Given the description of an element on the screen output the (x, y) to click on. 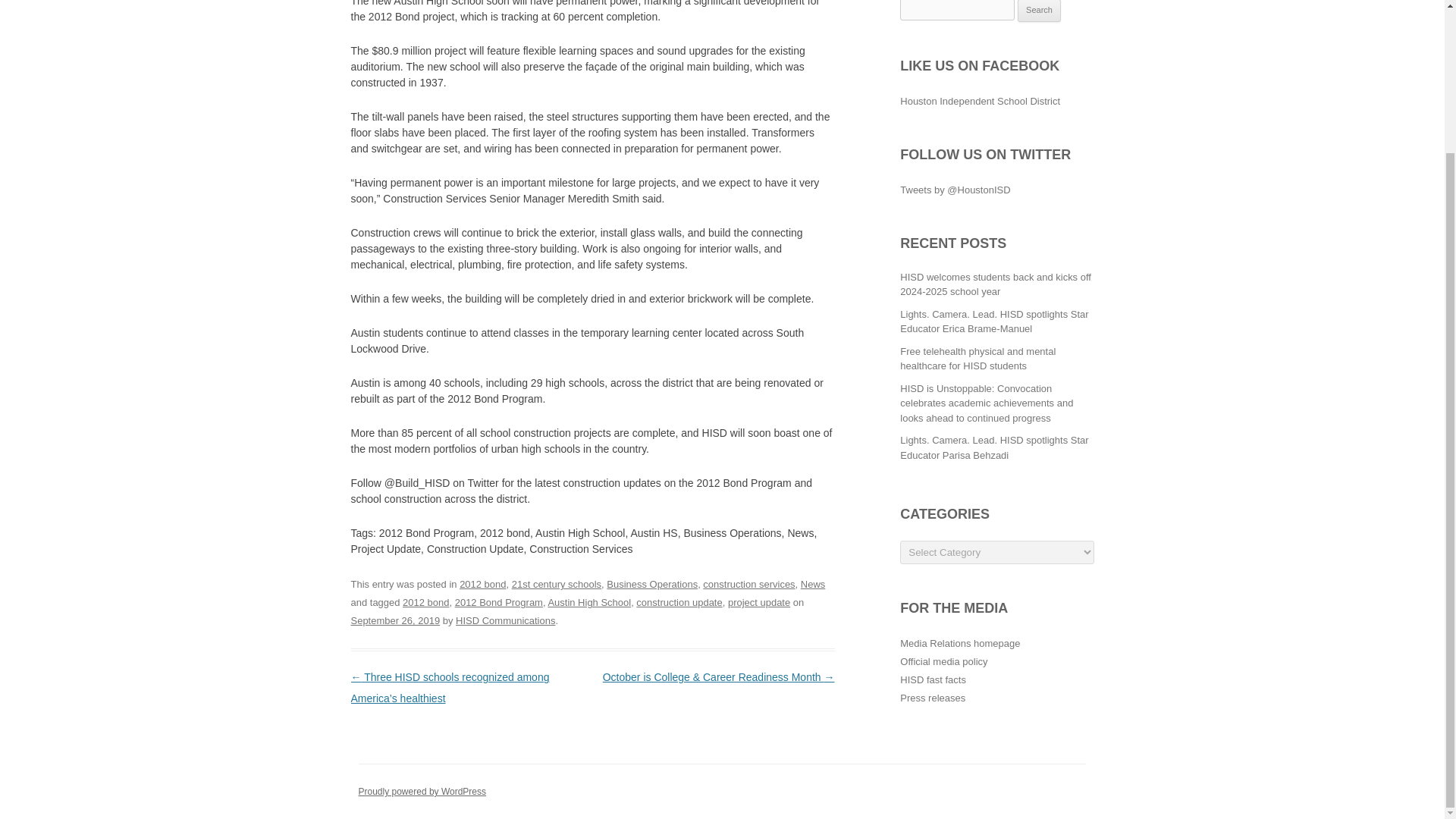
2012 bond (425, 602)
construction services (748, 583)
Semantic Personal Publishing Platform (422, 791)
21st century schools (556, 583)
2012 Bond Program (498, 602)
Business Operations (652, 583)
Austin High School (588, 602)
Search (1039, 11)
construction update (679, 602)
project update (759, 602)
